Given the description of an element on the screen output the (x, y) to click on. 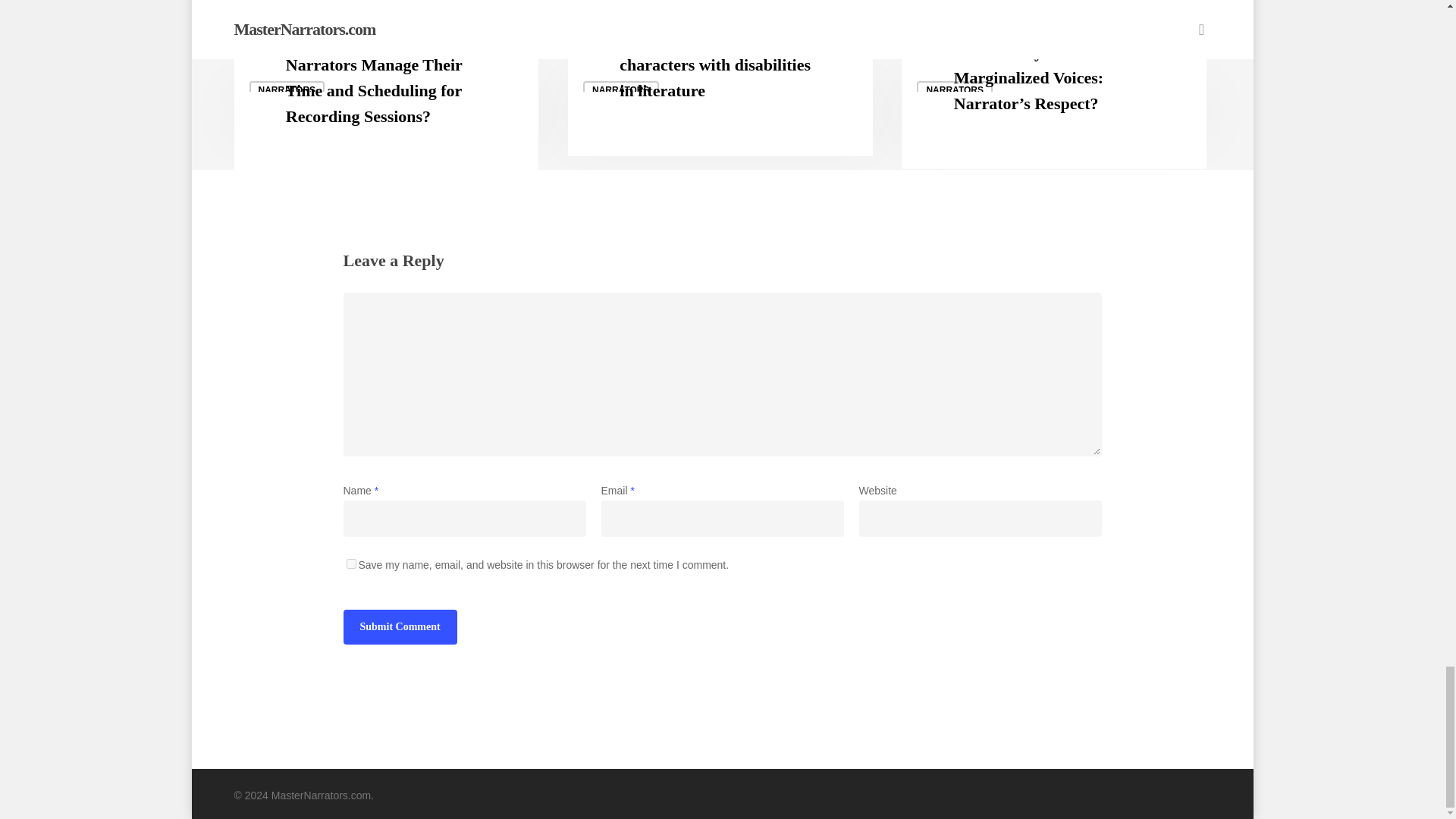
NARRATORS (621, 90)
yes (350, 563)
Submit Comment (399, 626)
NARRATORS (286, 90)
Submit Comment (399, 626)
NARRATORS (954, 90)
